Given the description of an element on the screen output the (x, y) to click on. 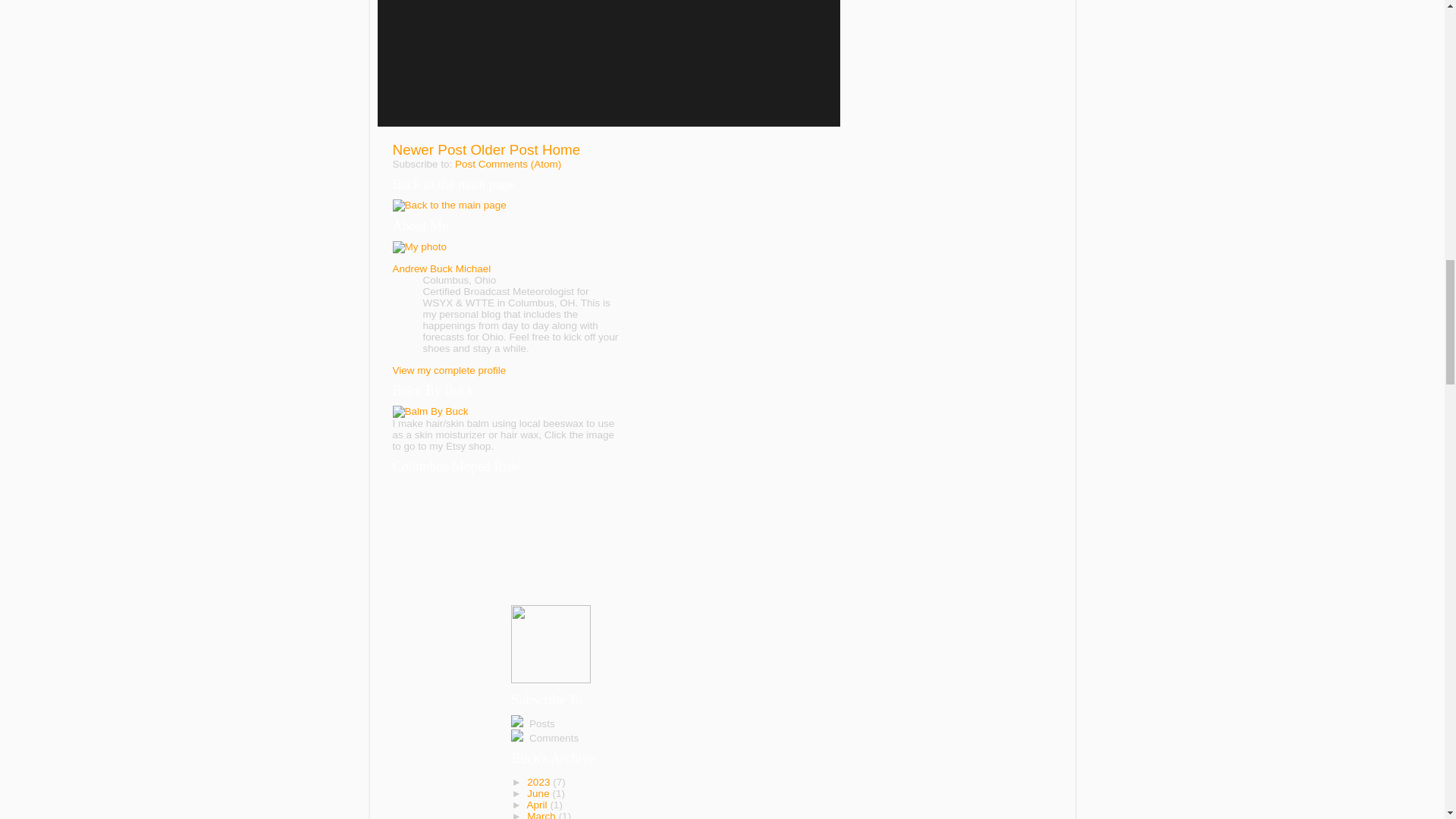
Newer Post (430, 149)
Older Post (503, 149)
Andrew Buck Michael (442, 268)
Older Post (503, 149)
Home (560, 149)
Newer Post (430, 149)
View my complete profile (449, 369)
June (539, 793)
2023 (540, 781)
